Given the description of an element on the screen output the (x, y) to click on. 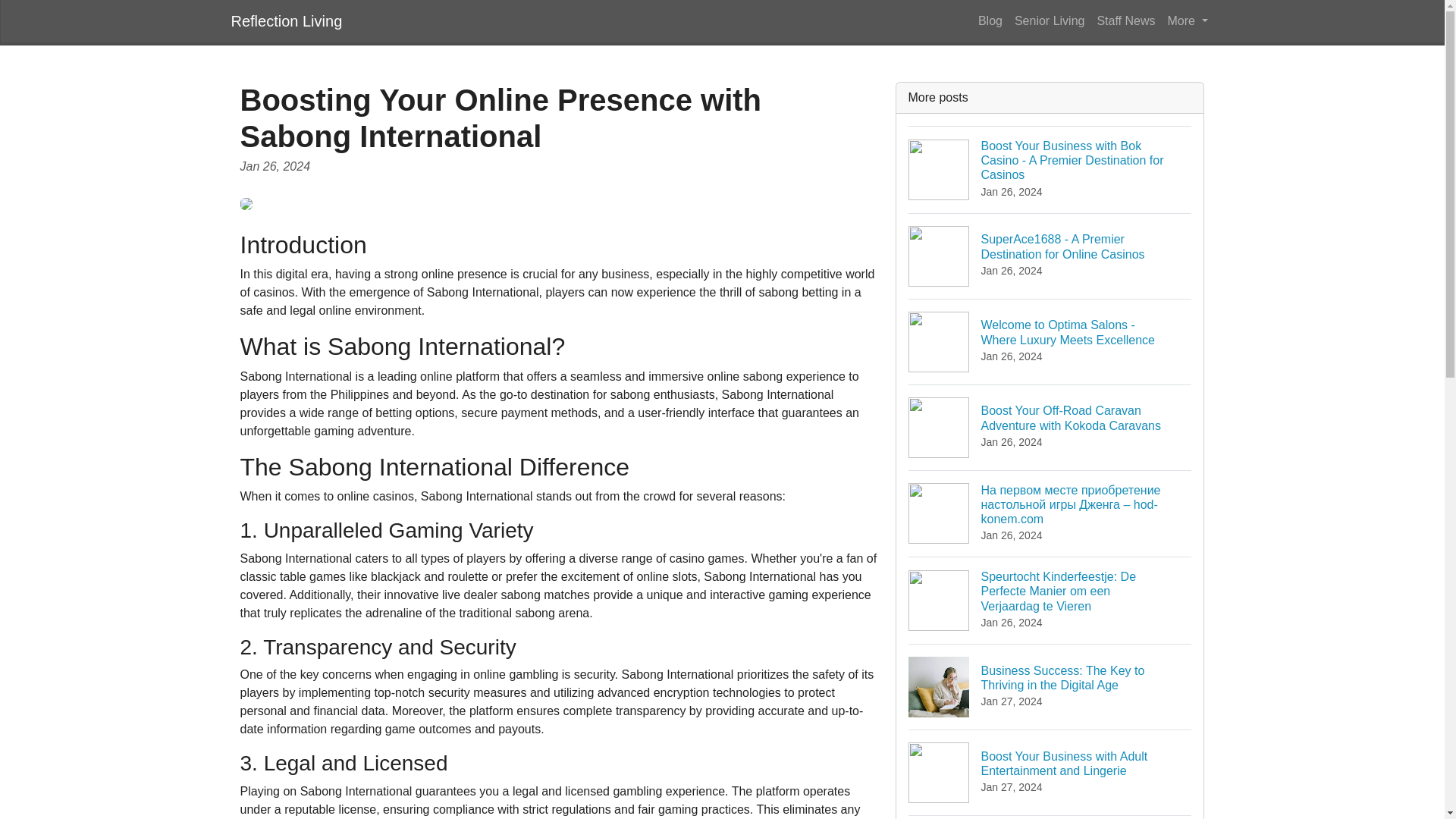
Senior Living (1049, 20)
Reflection Living (286, 20)
Staff News (1125, 20)
Blog (990, 20)
More (1187, 20)
